Given the description of an element on the screen output the (x, y) to click on. 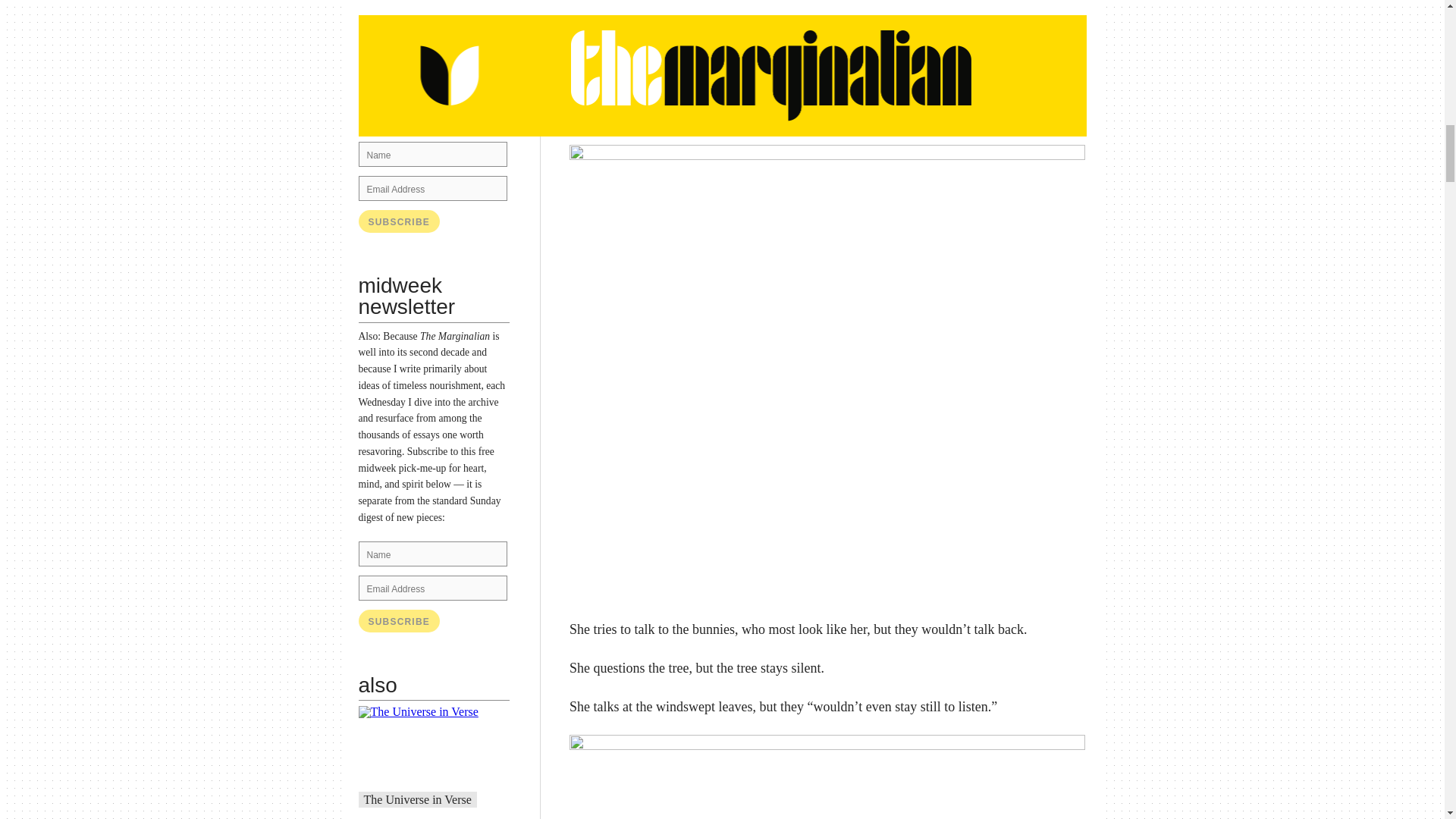
Subscribe (398, 620)
The Universe in Verse (417, 799)
Subscribe (398, 220)
Subscribe (398, 620)
Subscribe (398, 220)
example (449, 101)
